Given the description of an element on the screen output the (x, y) to click on. 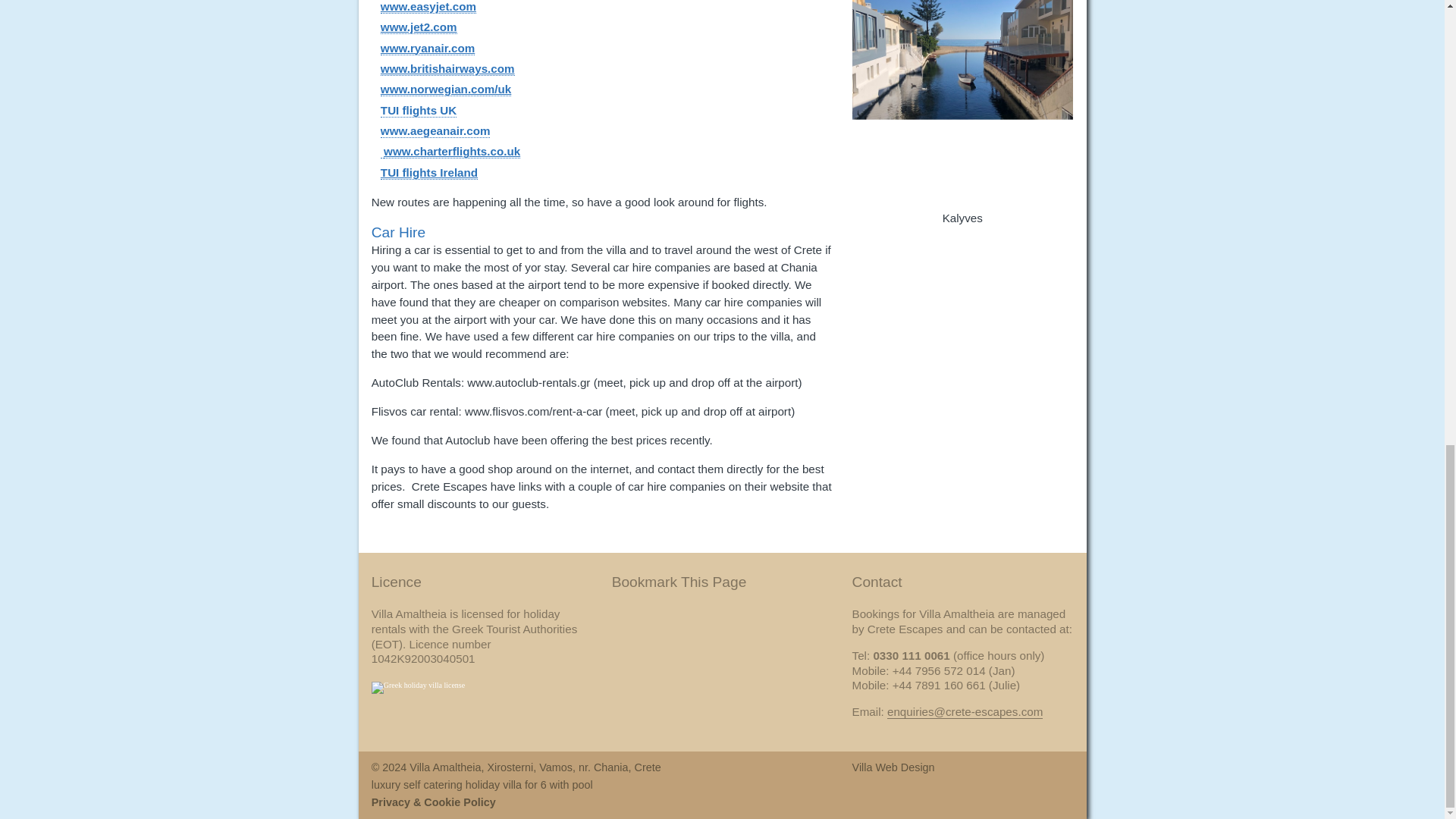
www.easyjet.com (428, 6)
TUI flights Ireland (428, 172)
www.ryanair.com (427, 47)
www.charterflights.co.uk (451, 151)
Villa Web Design (892, 767)
www.jet2.com (418, 27)
www.aegeanair.com (435, 131)
Privacy and cookie policy (433, 802)
Villa website design, UK, Europe (892, 767)
TUI flights UK (418, 110)
